Given the description of an element on the screen output the (x, y) to click on. 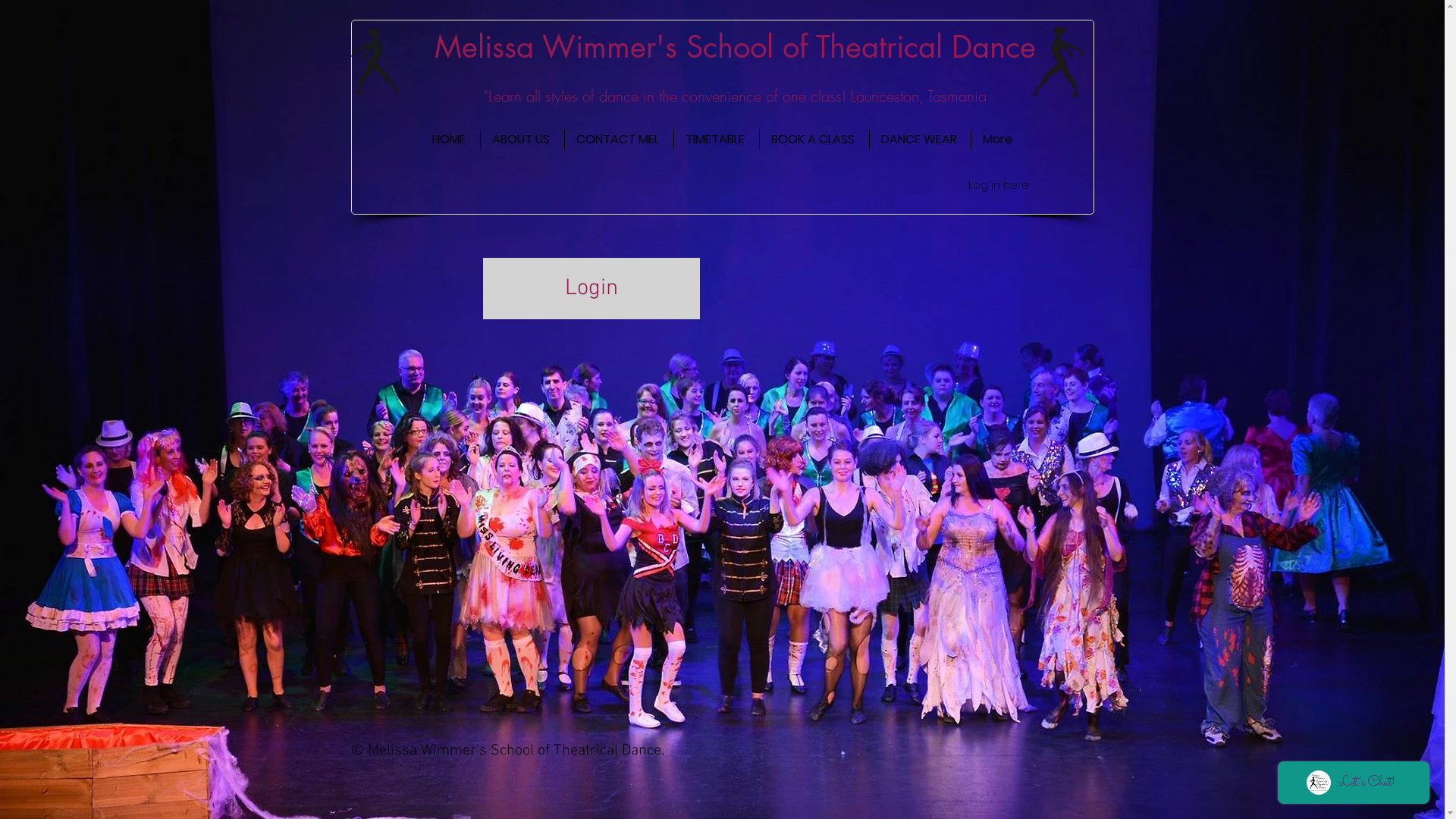
DANCE WEAR Element type: text (919, 139)
TIMETABLE Element type: text (715, 139)
ABOUT US Element type: text (522, 139)
HOME Element type: text (449, 139)
CONTACT MEL Element type: text (618, 139)
Log in here Element type: text (997, 185)
BOOK A CLASS Element type: text (814, 139)
